Given the description of an element on the screen output the (x, y) to click on. 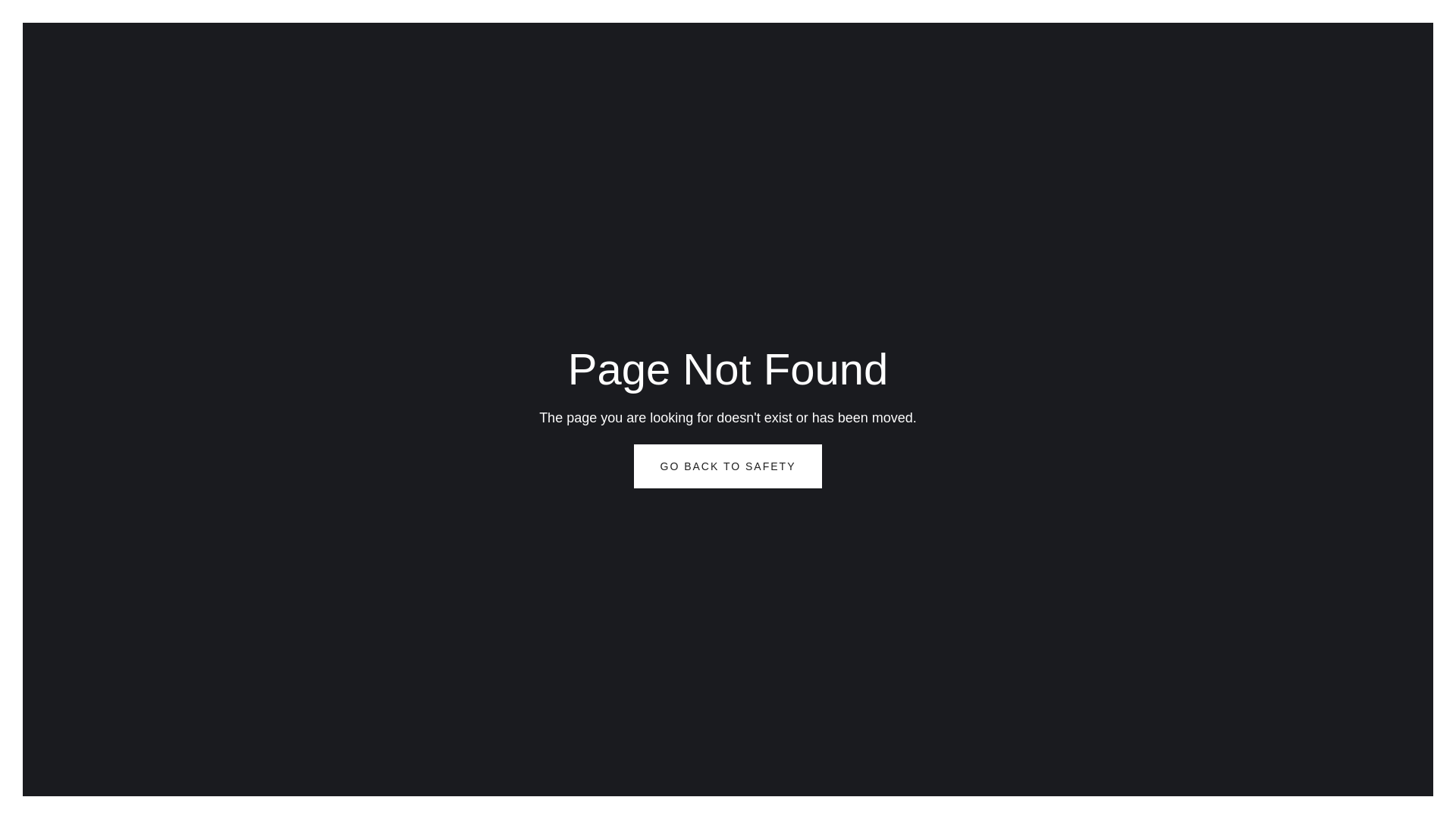
GO BACK TO SAFETY Element type: text (727, 466)
